Given the description of an element on the screen output the (x, y) to click on. 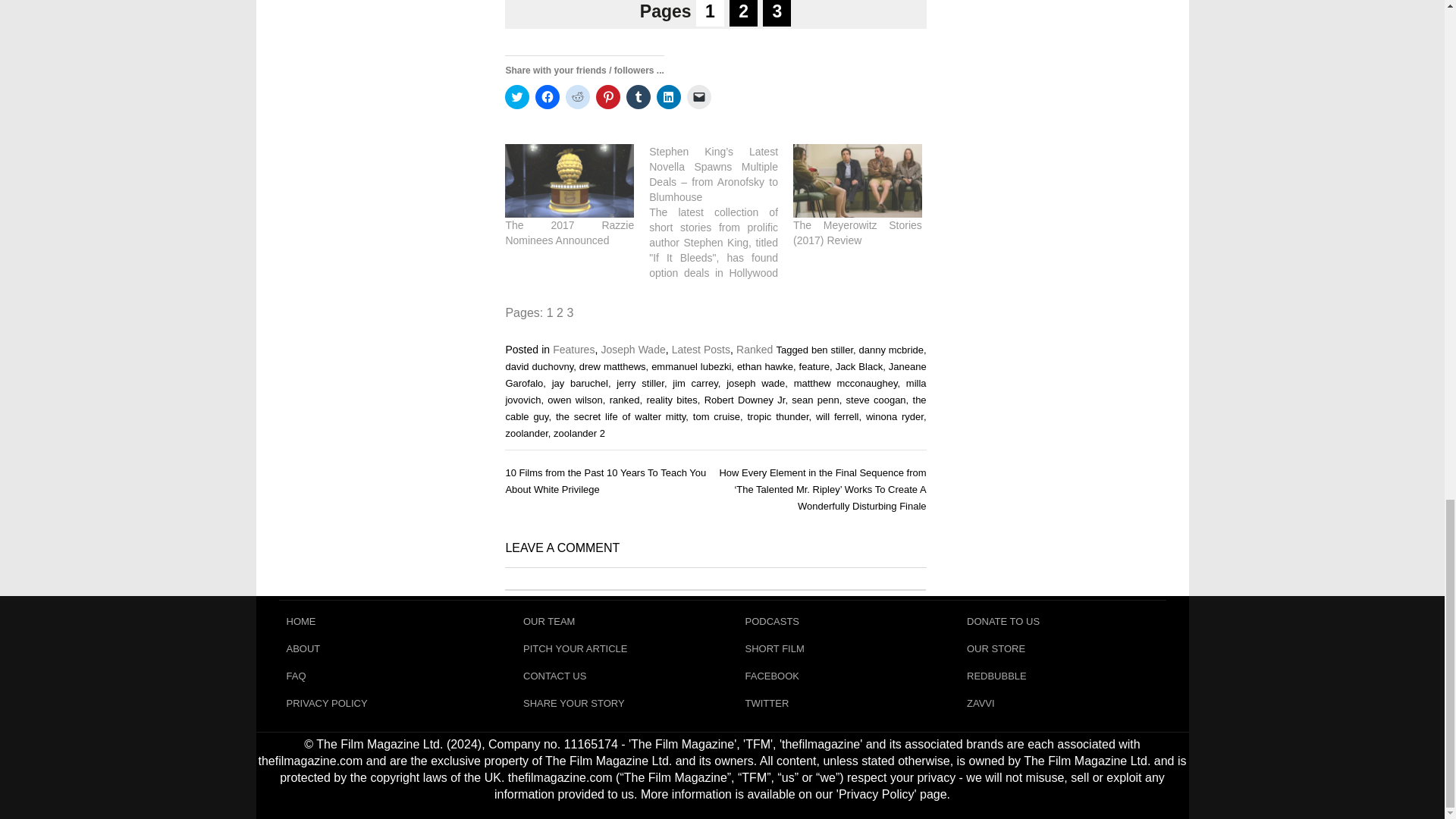
Click to share on Twitter (517, 96)
The 2017 Razzie Nominees Announced (569, 232)
Click to share on Facebook (547, 96)
Click to share on Tumblr (638, 96)
The 2017 Razzie Nominees Announced (569, 180)
Click to email a link to a friend (699, 96)
Click to share on Reddit (577, 96)
Click to share on LinkedIn (668, 96)
Click to share on Pinterest (607, 96)
